Given the description of an element on the screen output the (x, y) to click on. 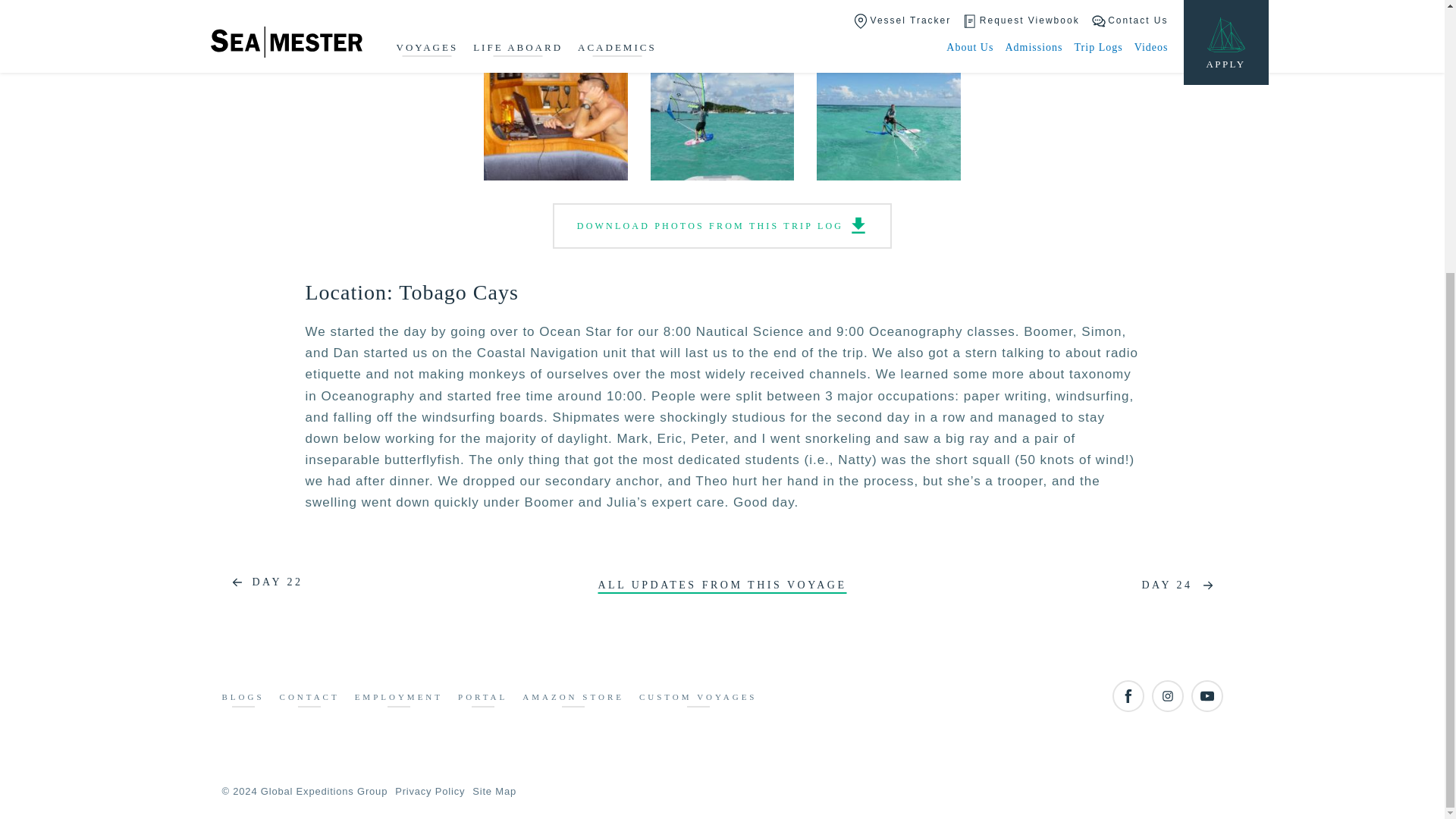
3129 (888, 108)
youtube (1207, 695)
instagram (1166, 695)
ALL UPDATES FROM THIS VOYAGE (720, 585)
EMPLOYMENT (398, 699)
DAY 24 (1182, 585)
DAY 22 (261, 582)
1273 (555, 108)
AMAZON STORE (573, 699)
BLOGS (242, 699)
